Given the description of an element on the screen output the (x, y) to click on. 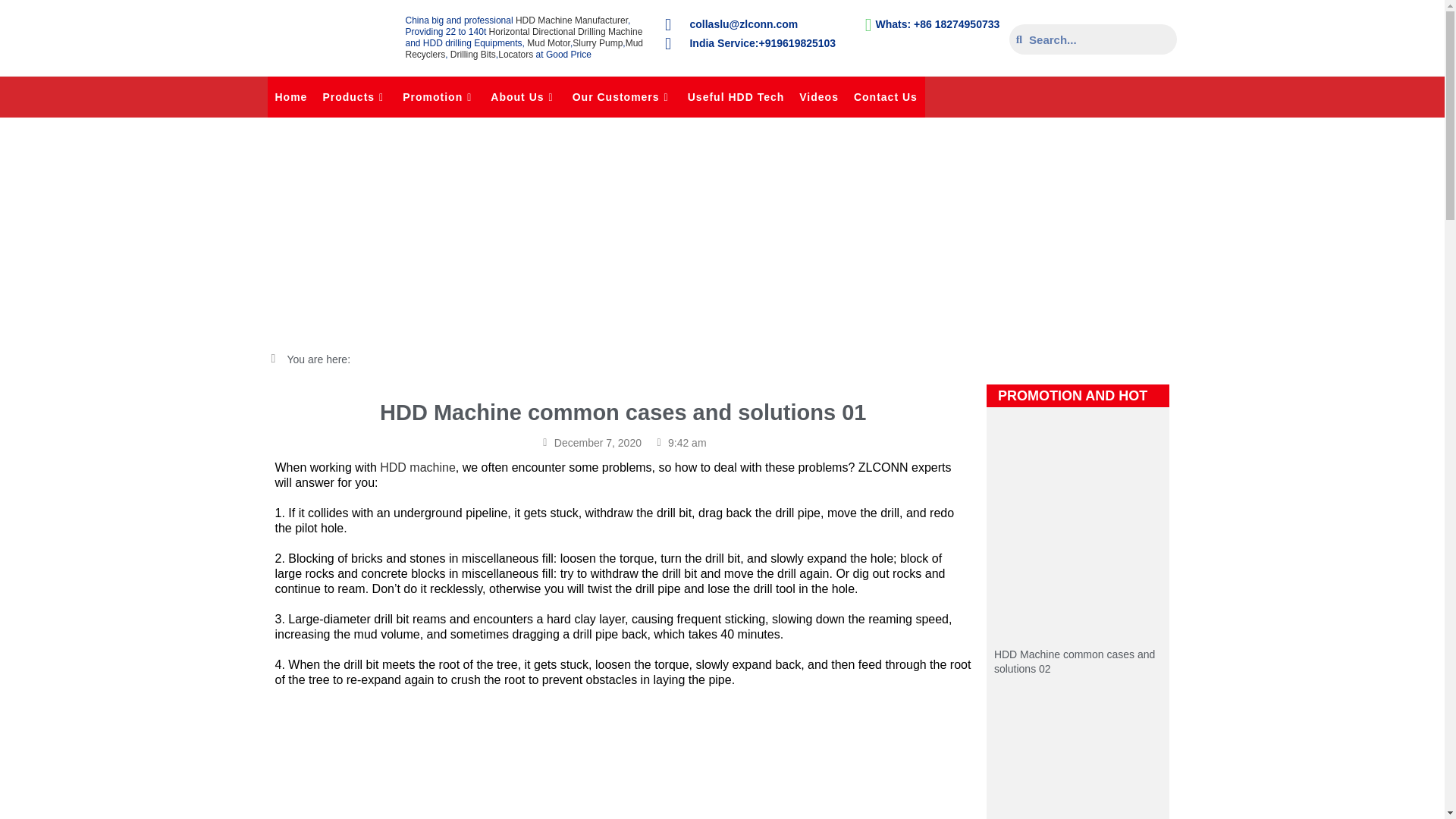
Mud Motor (548, 42)
HDD Machine Manufacturer (571, 20)
Mud Recyclers (523, 48)
Slurry Pump (597, 42)
Horizontal Directional Drilling Machine (566, 31)
Locators (514, 54)
Products (354, 96)
Search (1099, 39)
Drilling Bits (472, 54)
Home (290, 96)
